Given the description of an element on the screen output the (x, y) to click on. 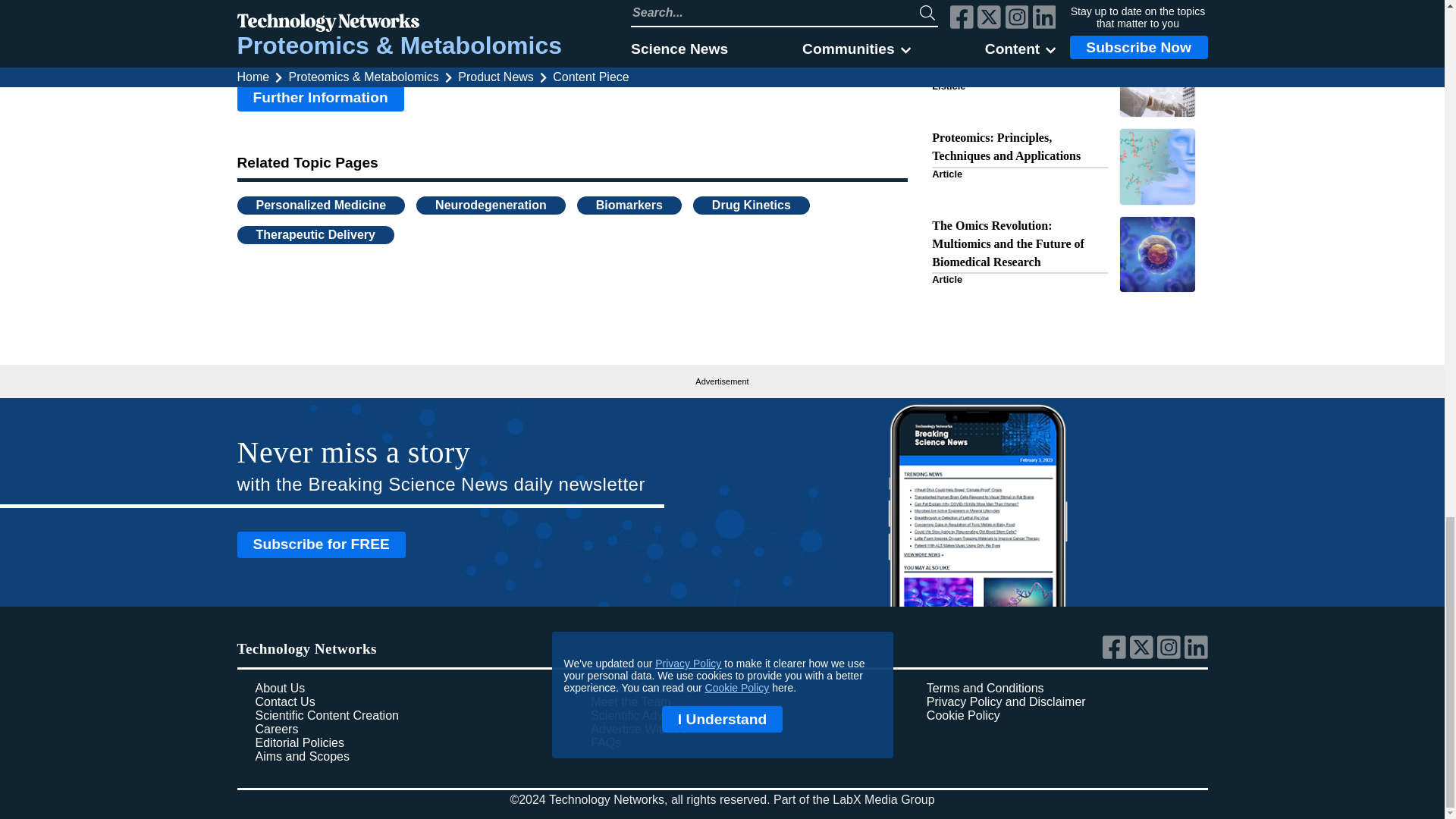
Link to Technology Networks' linkedin page (1196, 655)
Link to Technology Networks' instagram page (1171, 655)
Link to Technology Networks' facebook page (1115, 655)
Link to Technology Networks' twitter page (1143, 655)
